Given the description of an element on the screen output the (x, y) to click on. 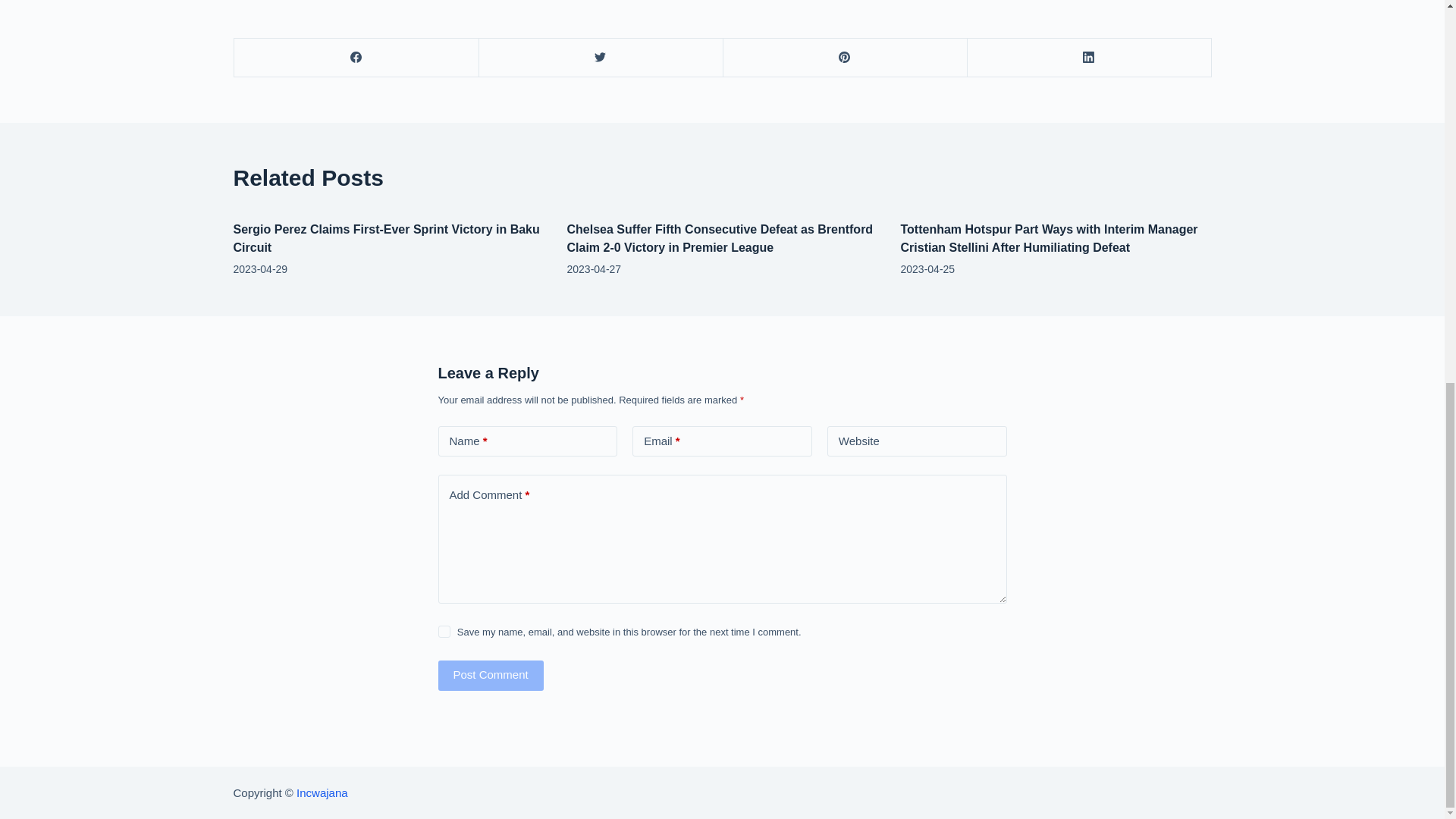
yes (443, 631)
Post Comment (490, 675)
Incwajana (322, 792)
